Given the description of an element on the screen output the (x, y) to click on. 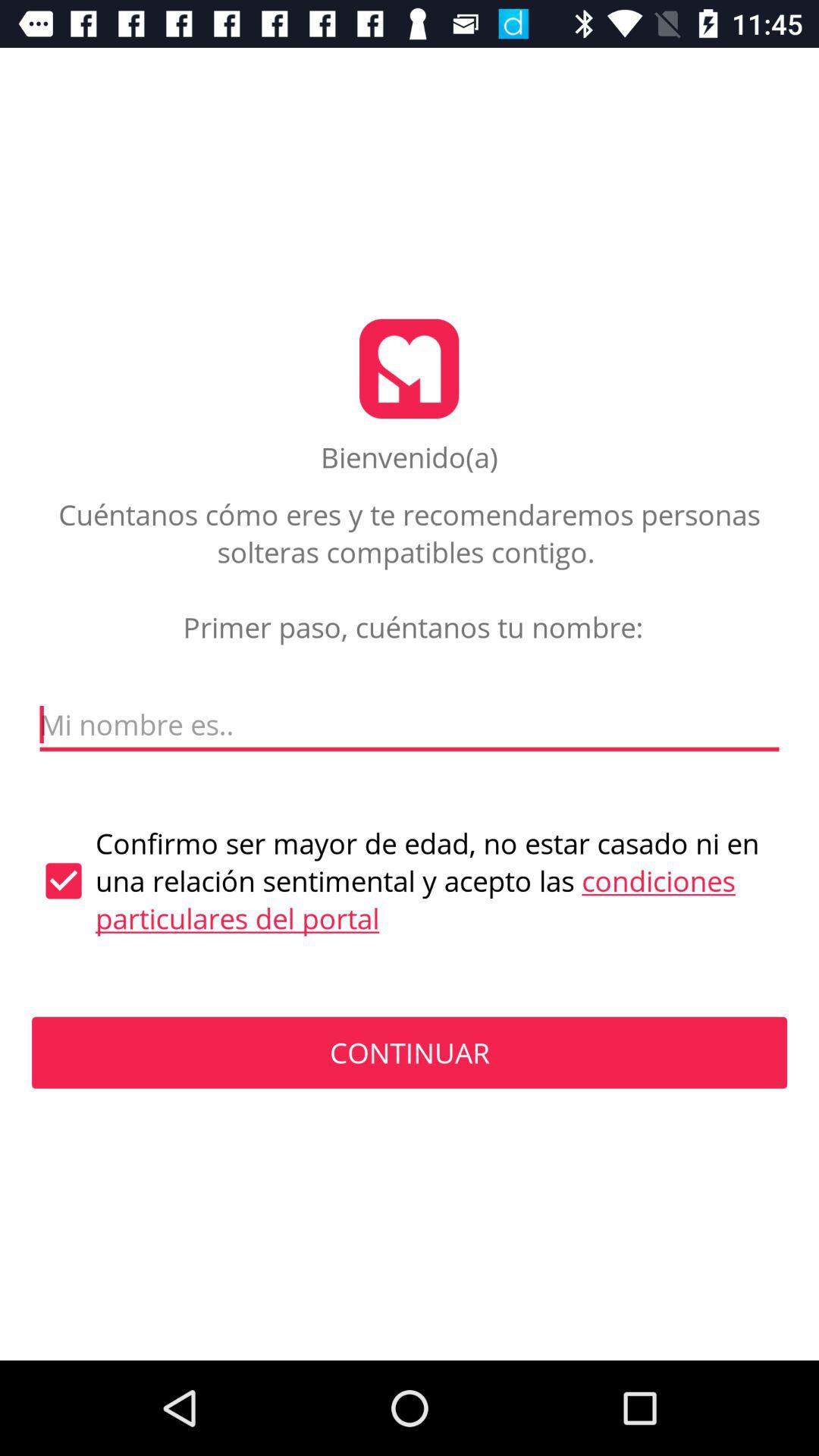
select icon below confirmo ser mayor icon (409, 1052)
